Given the description of an element on the screen output the (x, y) to click on. 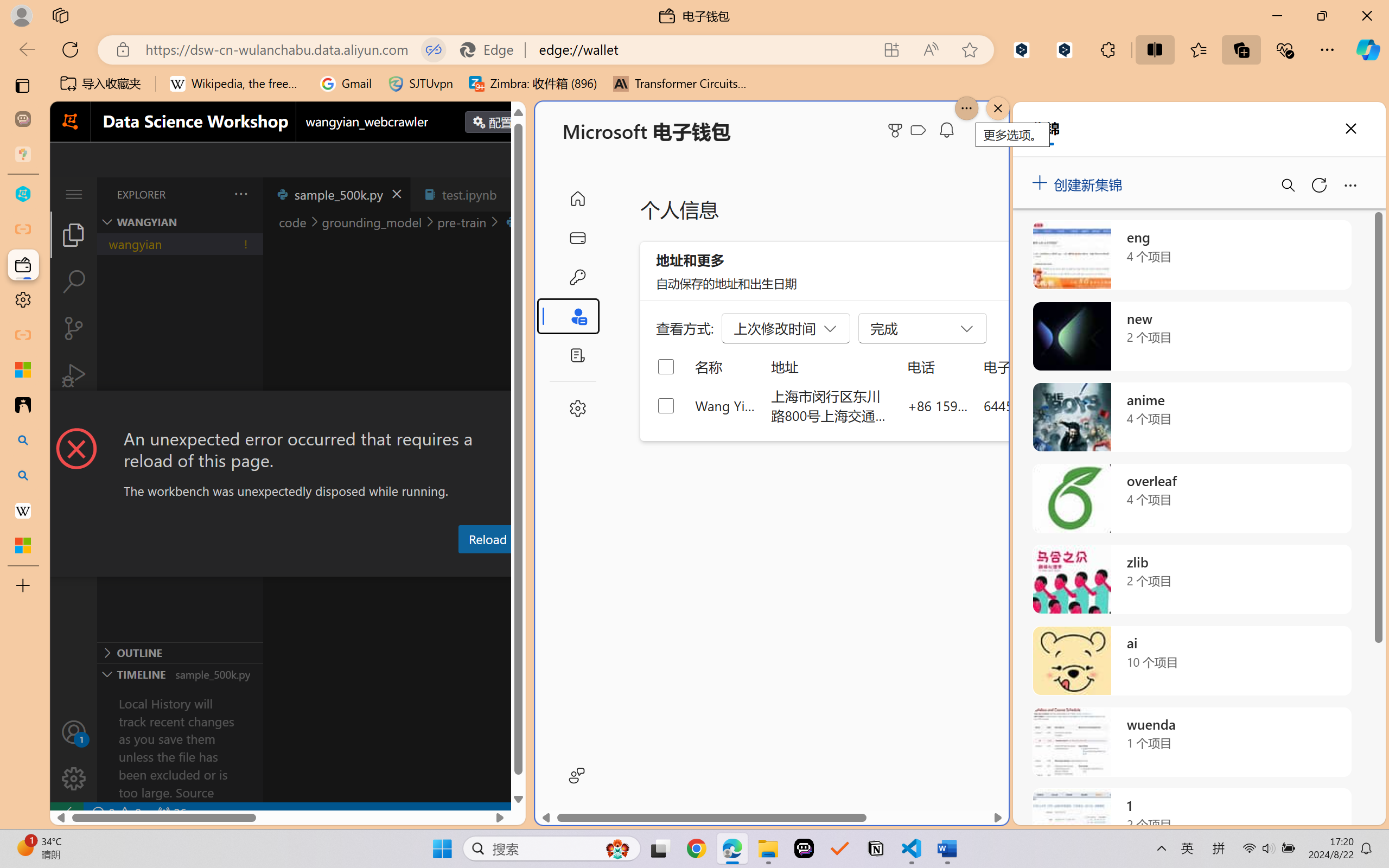
Earth - Wikipedia (22, 510)
sample_500k.py (336, 194)
wangyian_dsw - DSW (22, 194)
Close Dialog (520, 410)
Copilot (Ctrl+Shift+.) (1368, 49)
remote (66, 812)
